Given the description of an element on the screen output the (x, y) to click on. 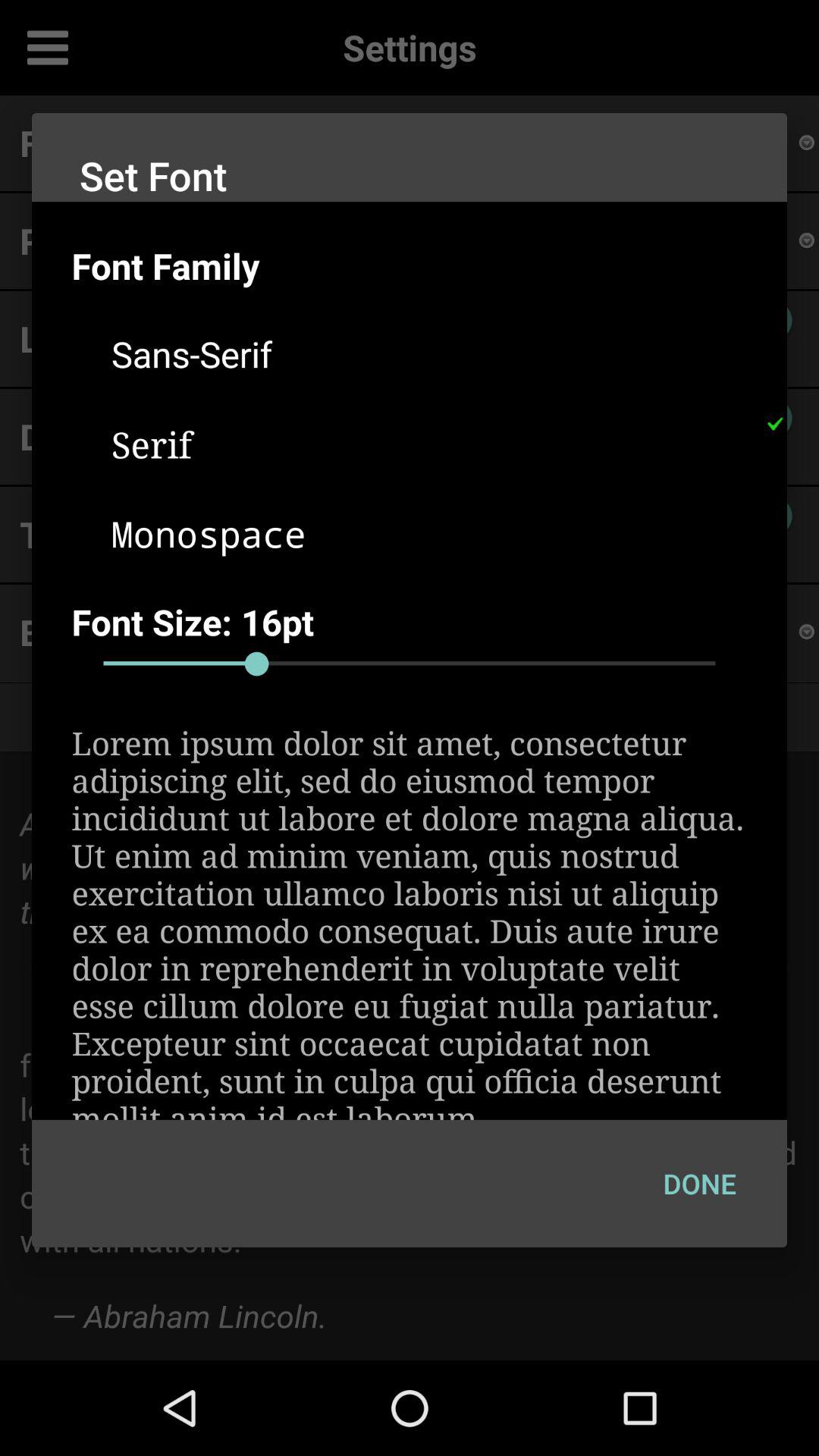
launch sans-serif (429, 353)
